Given the description of an element on the screen output the (x, y) to click on. 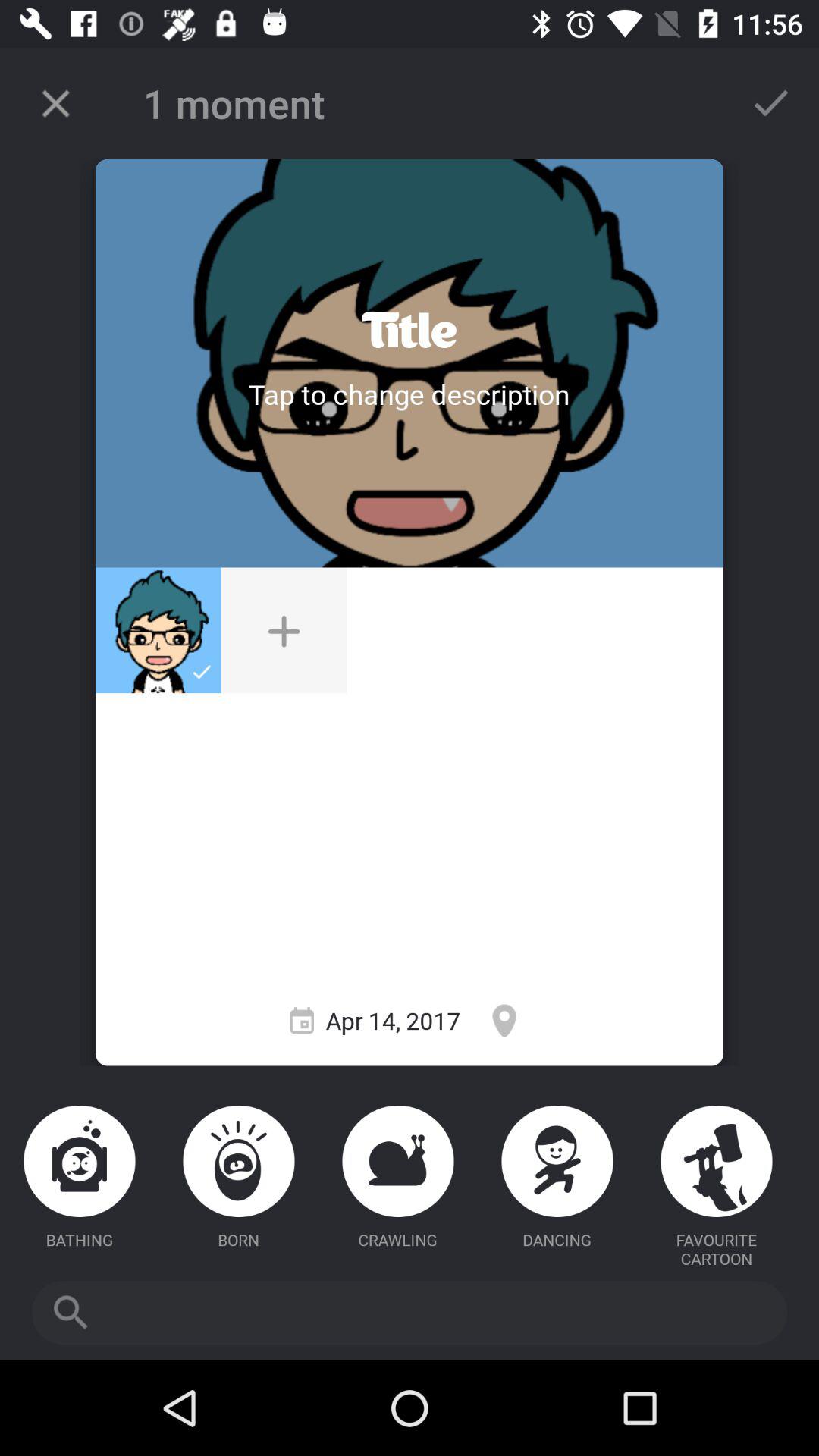
approve (771, 103)
